Given the description of an element on the screen output the (x, y) to click on. 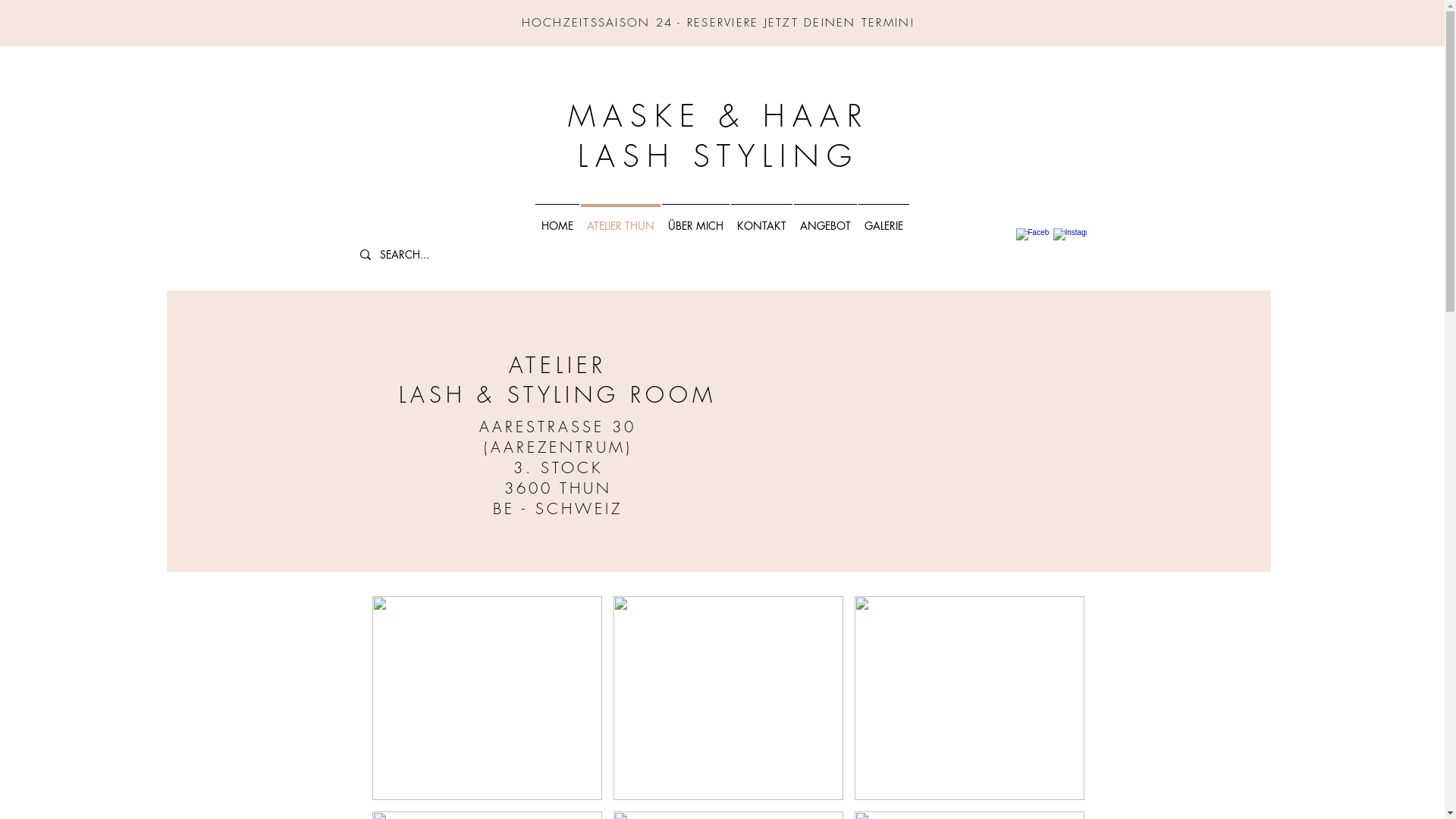
MASKE & HAAR Element type: text (718, 115)
KONTAKT Element type: text (761, 218)
HOME Element type: text (557, 218)
LASH STYLING Element type: text (718, 155)
ATELIER THUN Element type: text (620, 218)
GALERIE Element type: text (883, 218)
ANGEBOT Element type: text (825, 218)
